Given the description of an element on the screen output the (x, y) to click on. 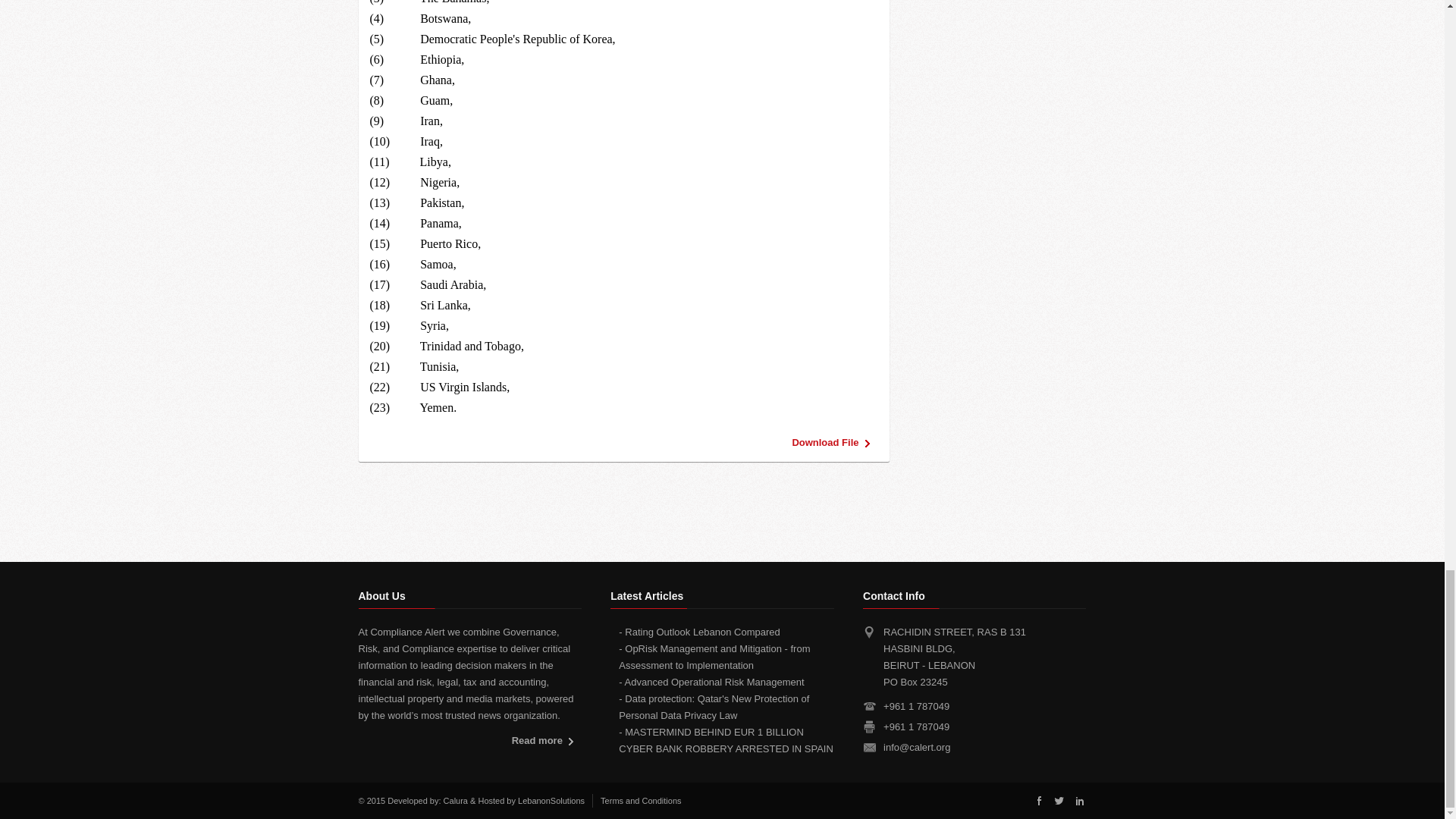
Facebook (1039, 800)
Rating Outlook Lebanon Compared (702, 632)
Read more (546, 741)
Download File (834, 443)
Twitter (1058, 800)
Linkedin (1078, 800)
